Given the description of an element on the screen output the (x, y) to click on. 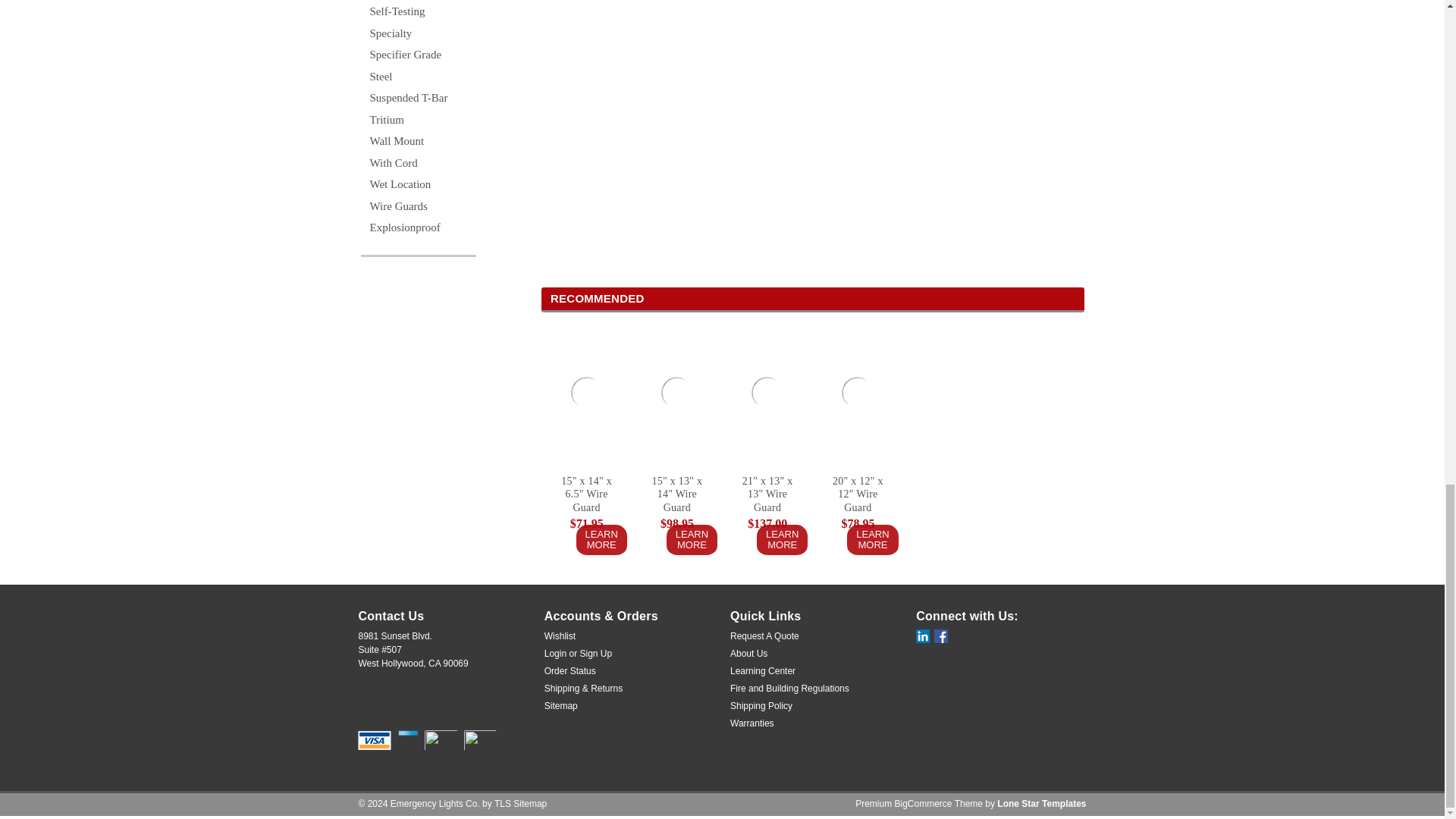
20" x 12" x 12" Wire Guard (857, 392)
15" x 13" x 14" Wire Guard (676, 392)
21" x 13" x 13" Wire Guard (767, 392)
